Given the description of an element on the screen output the (x, y) to click on. 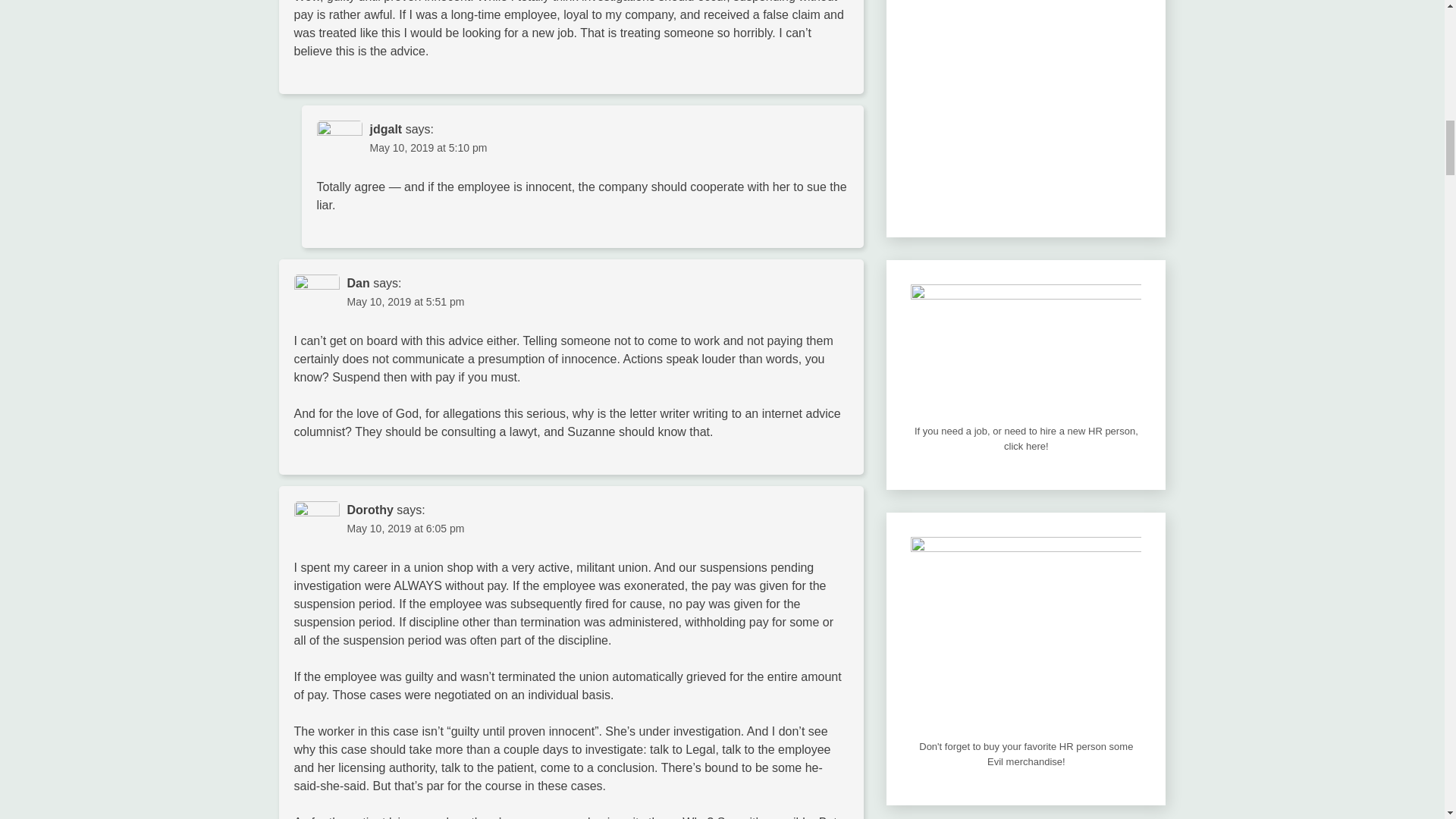
May 10, 2019 at 5:10 pm (428, 147)
May 10, 2019 at 5:51 pm (405, 301)
May 10, 2019 at 6:05 pm (405, 528)
